Given the description of an element on the screen output the (x, y) to click on. 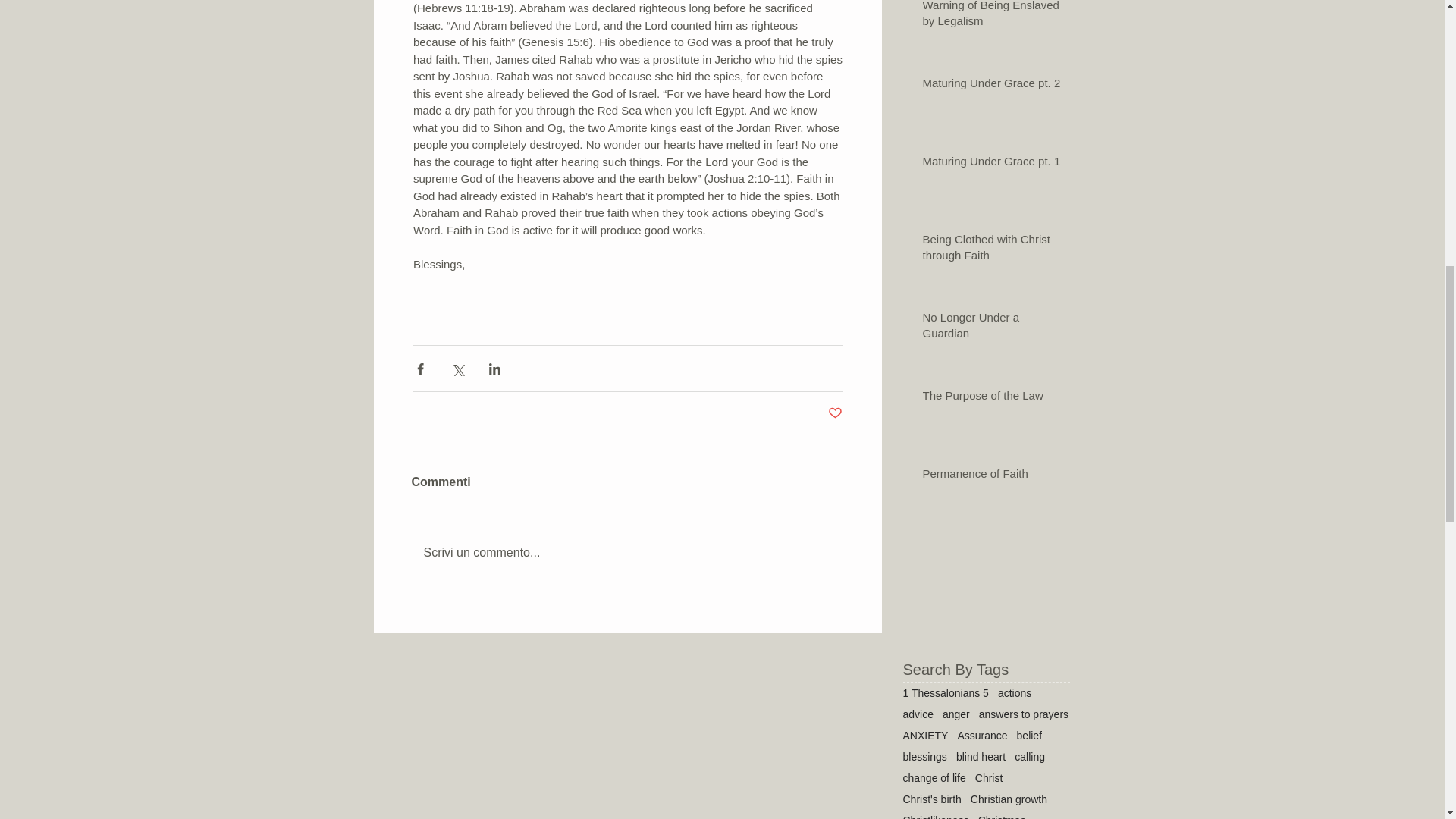
advice (917, 714)
No Longer Under a Guardian (990, 328)
Christ (989, 777)
The Purpose of the Law (990, 398)
Assurance (981, 735)
Maturing Under Grace pt. 1 (990, 164)
Warning of Being Enslaved by Legalism (990, 17)
answers to prayers (1023, 714)
ANXIETY (924, 735)
Post not marked as liked (835, 413)
1 Thessalonians 5 (945, 693)
actions (1013, 693)
blessings (924, 756)
belief (1029, 735)
Maturing Under Grace pt. 2 (990, 86)
